Given the description of an element on the screen output the (x, y) to click on. 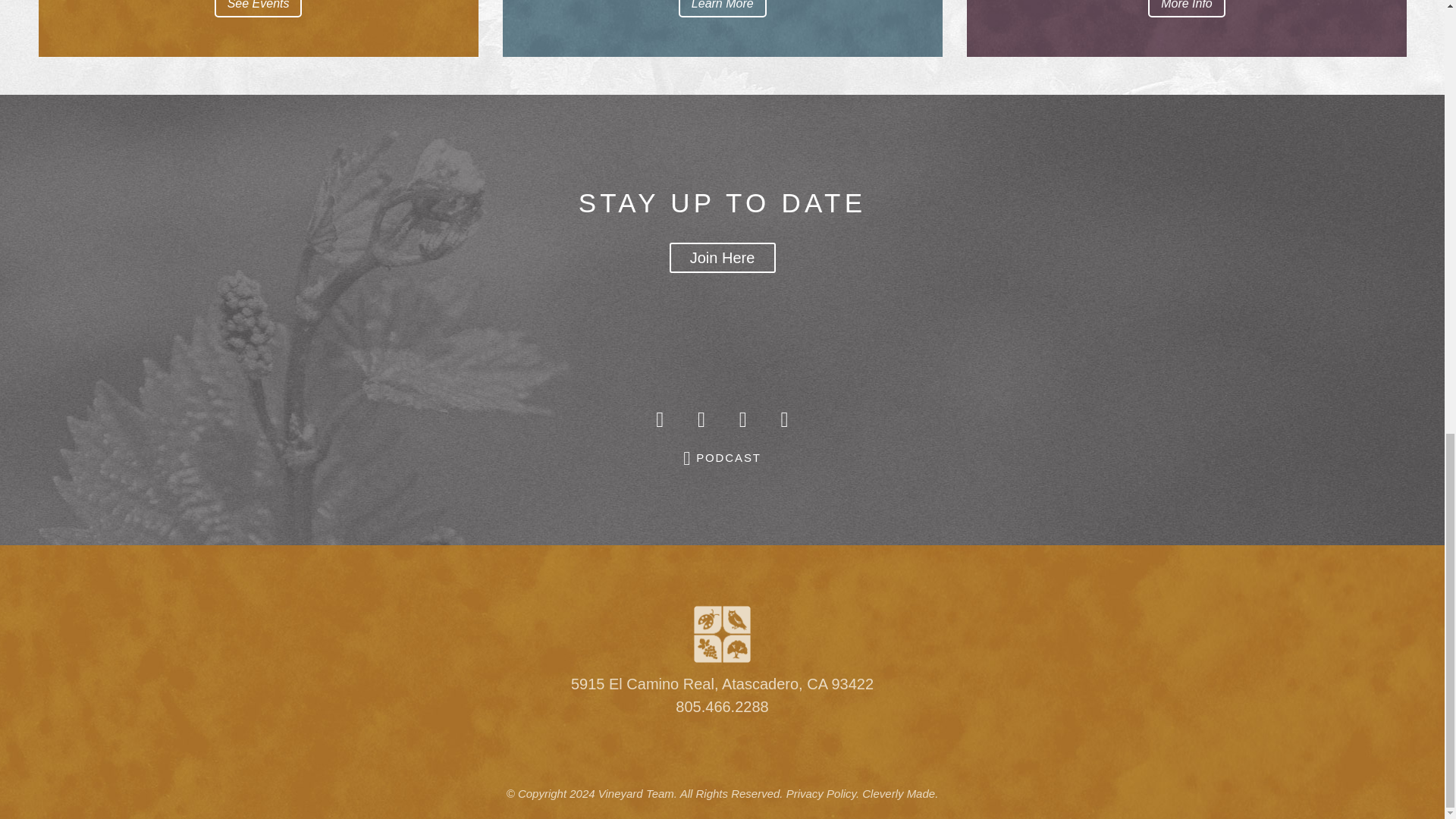
805.466.2288 (721, 706)
Join Here (721, 257)
PODCAST (721, 458)
